Given the description of an element on the screen output the (x, y) to click on. 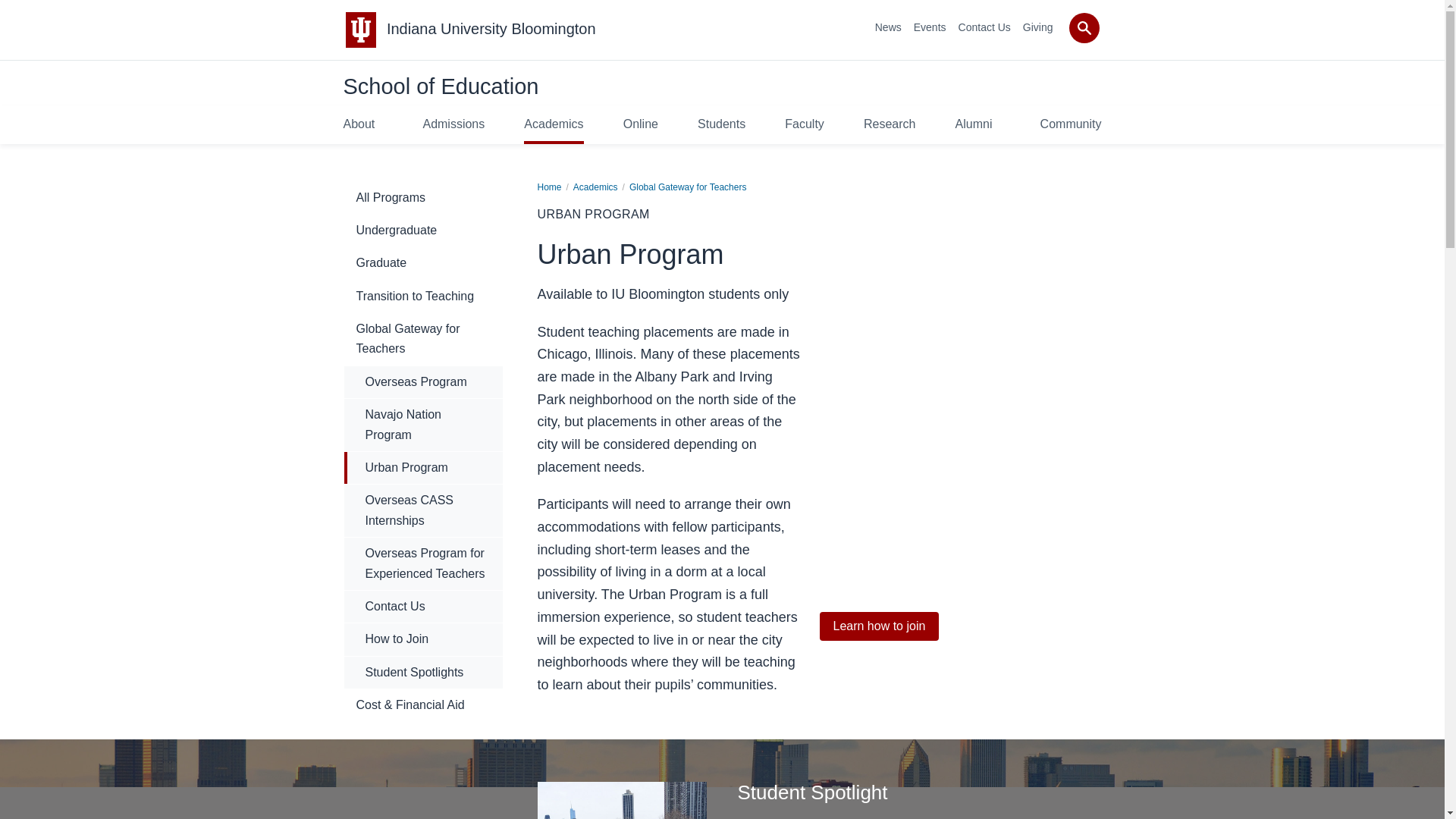
Indiana University Bloomington (491, 28)
Map of Urban Program (959, 438)
Indiana University Bloomington (491, 28)
